Given the description of an element on the screen output the (x, y) to click on. 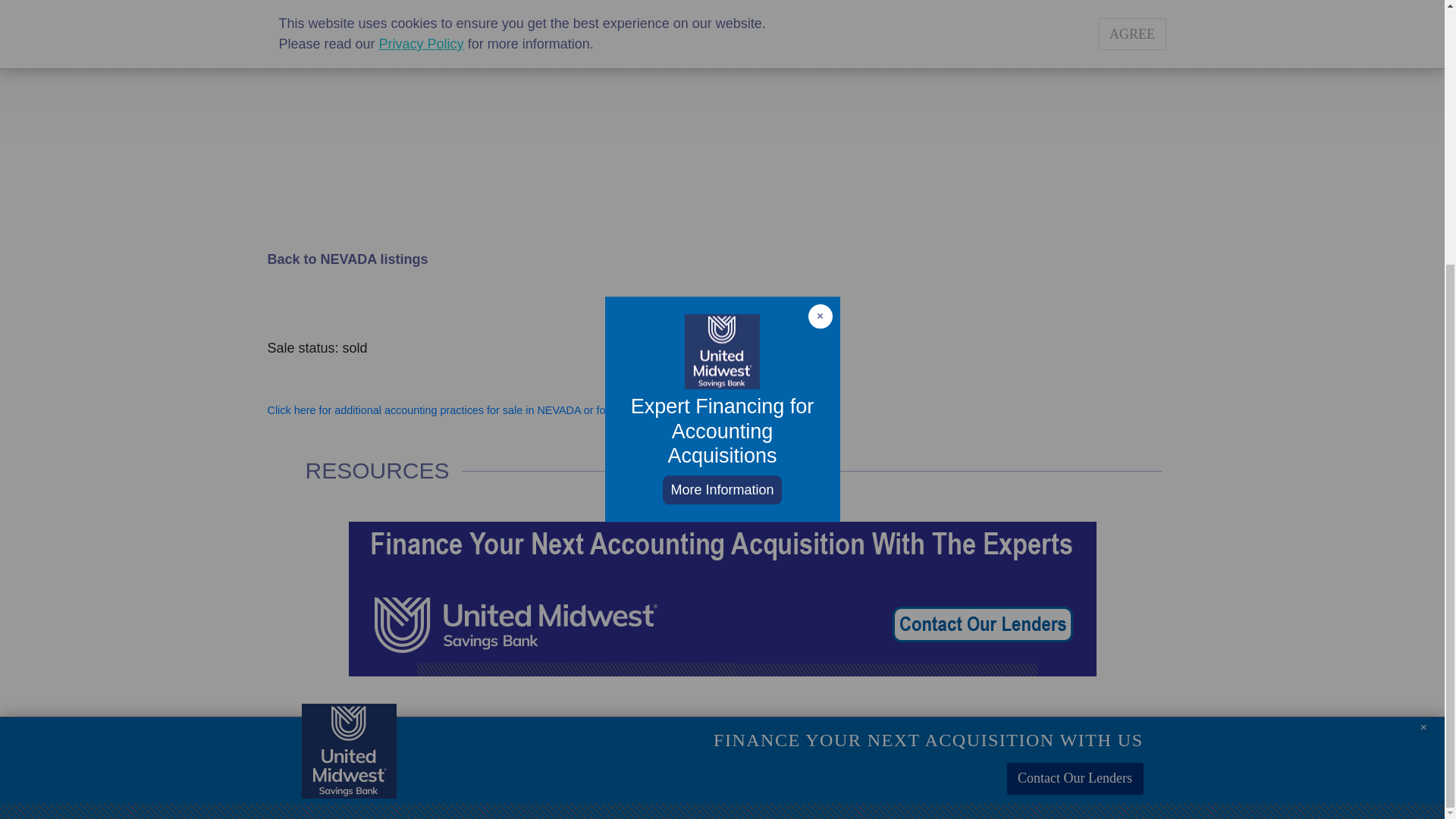
Contact Our Lenders (1074, 396)
